Given the description of an element on the screen output the (x, y) to click on. 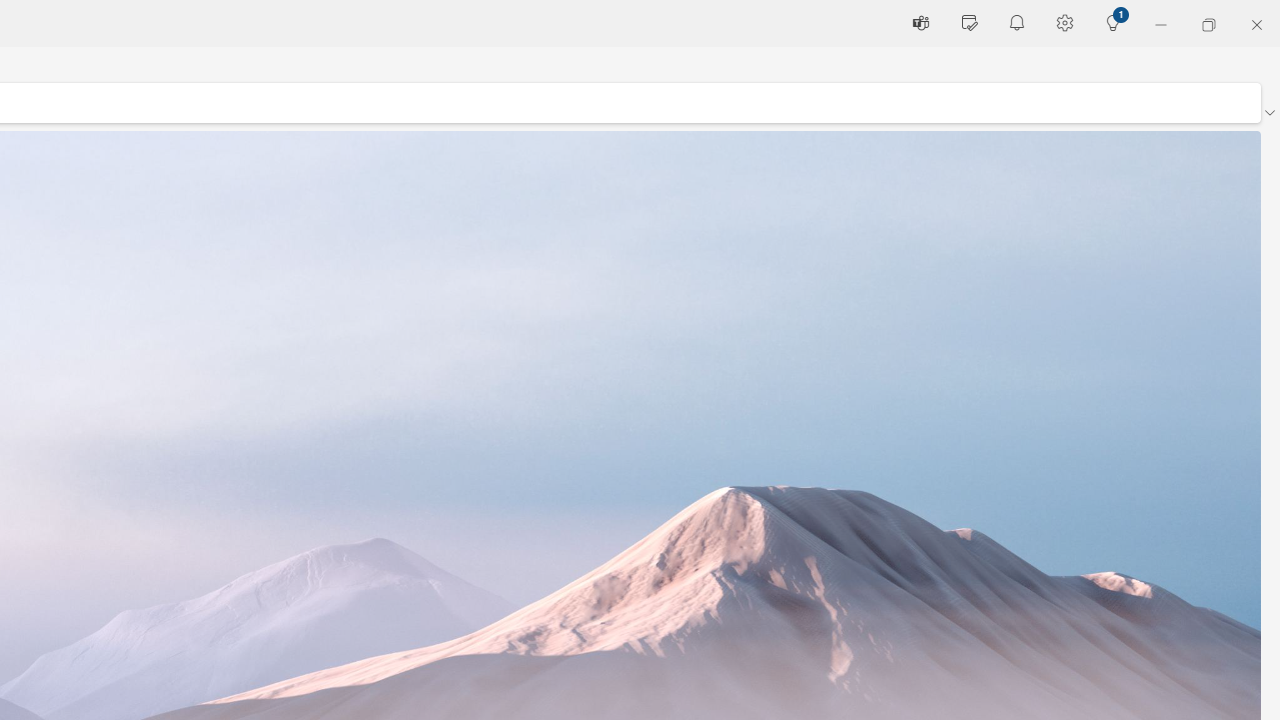
Ribbon display options (1269, 112)
